Given the description of an element on the screen output the (x, y) to click on. 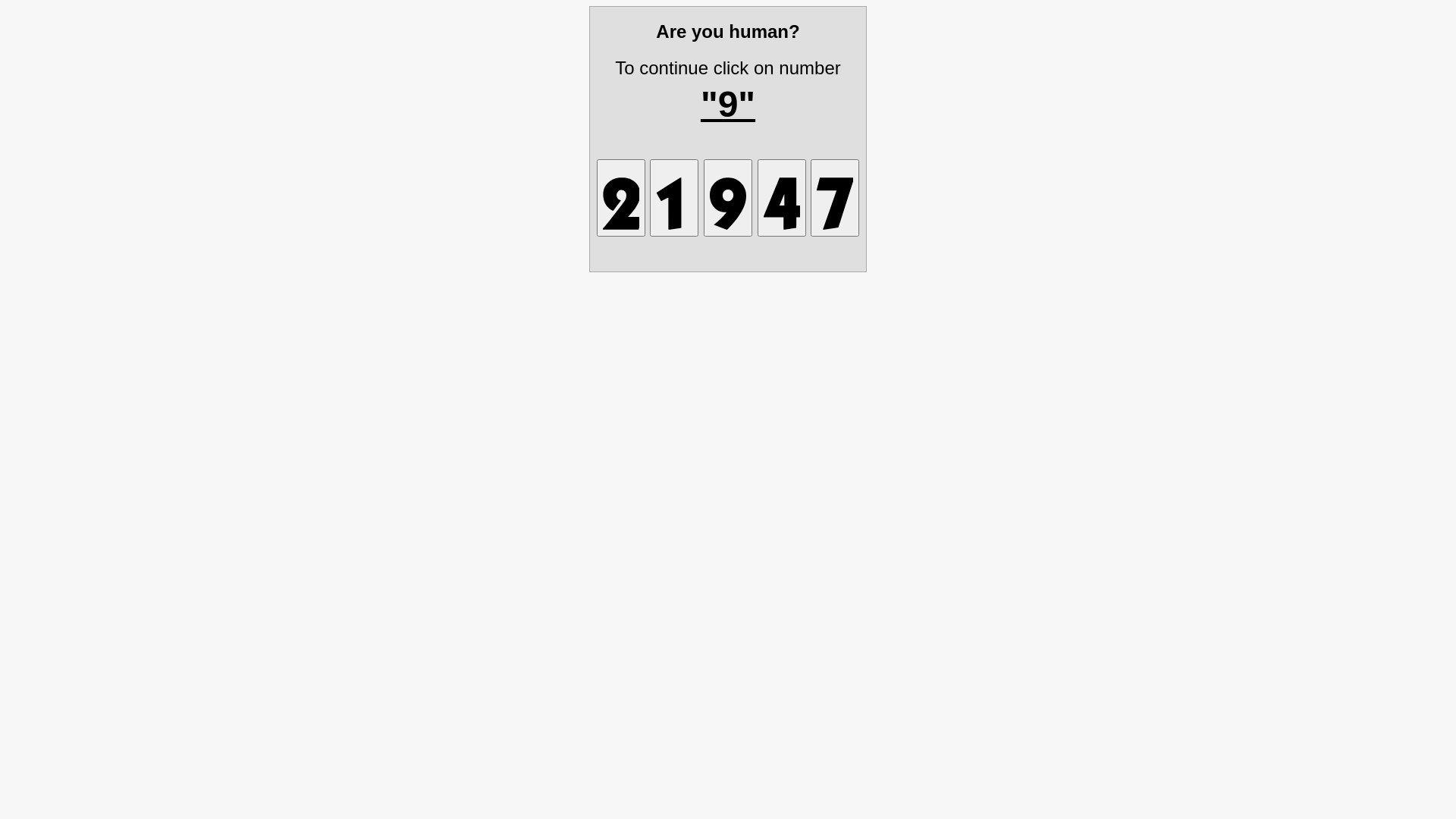
1732443118527091 Element type: text (727, 197)
1732443118614721 Element type: text (673, 197)
1732443118892424 Element type: text (620, 197)
1732443118891174 Element type: text (834, 197)
1732443118996559 Element type: text (781, 197)
